Given the description of an element on the screen output the (x, y) to click on. 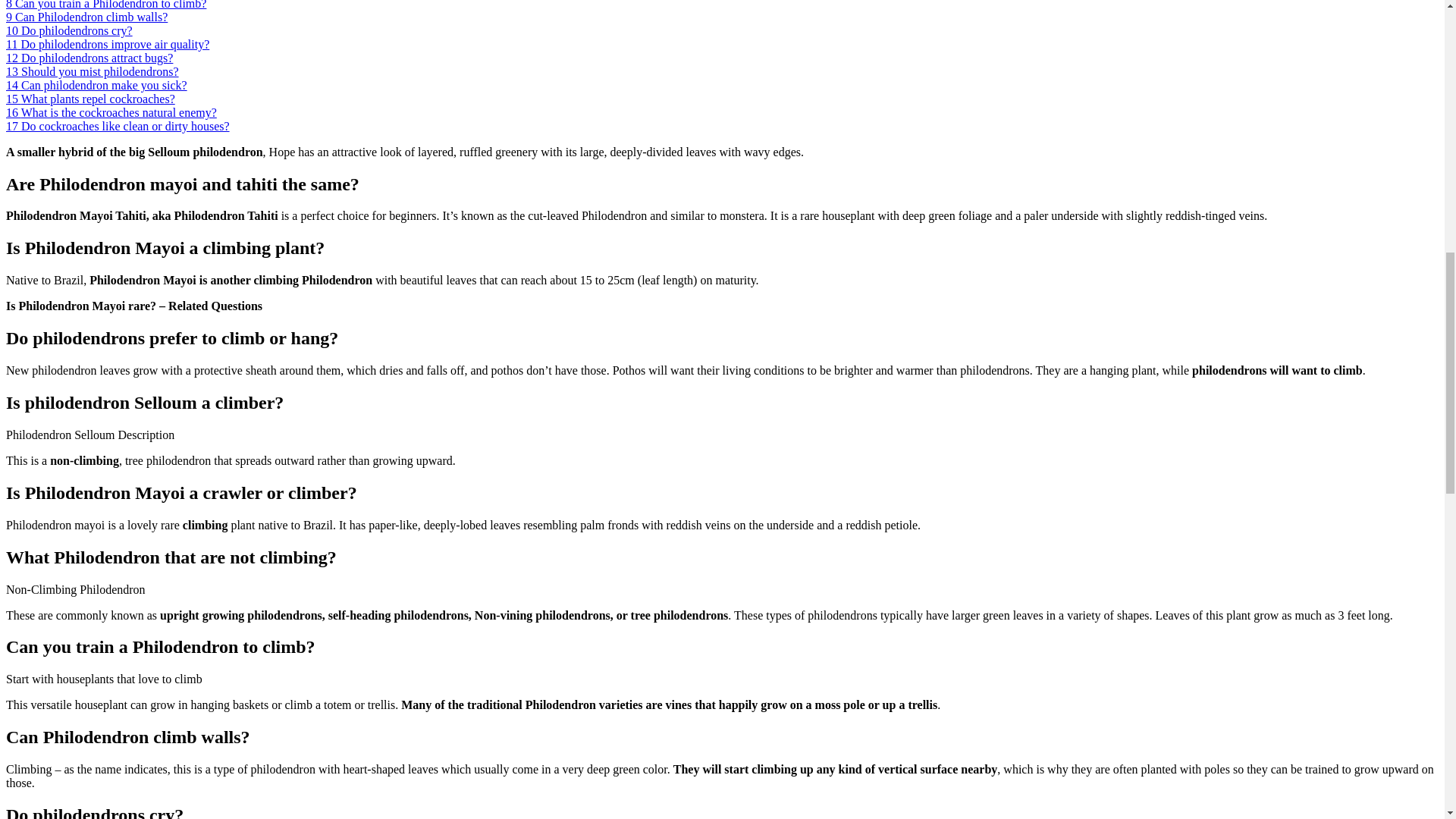
13 Should you mist philodendrons? (92, 71)
10 Do philodendrons cry? (68, 30)
14 Can philodendron make you sick? (96, 84)
8 Can you train a Philodendron to climb? (105, 4)
11 Do philodendrons improve air quality? (107, 43)
9 Can Philodendron climb walls? (86, 16)
12 Do philodendrons attract bugs? (89, 57)
15 What plants repel cockroaches? (89, 98)
16 What is the cockroaches natural enemy? (110, 112)
